Given the description of an element on the screen output the (x, y) to click on. 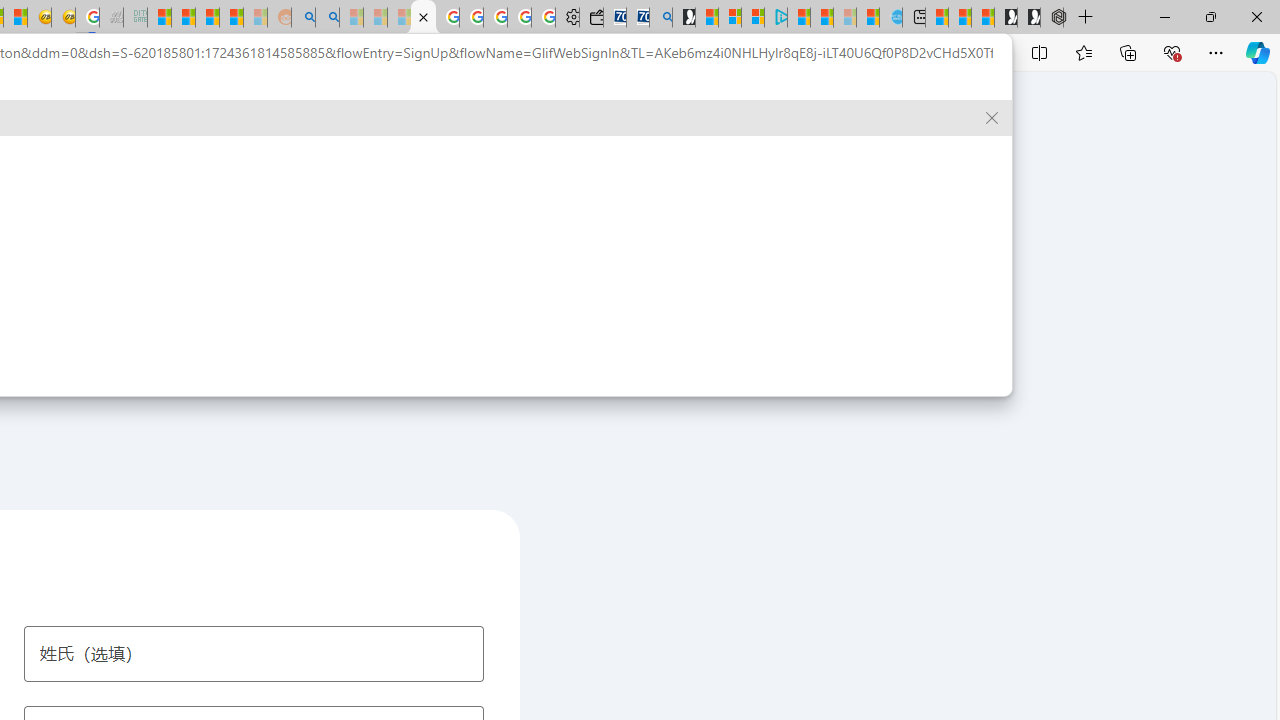
Wallet (590, 17)
Navy Quest (110, 17)
MSNBC - MSN (159, 17)
Cheap Car Rentals - Save70.com (637, 17)
